Given the description of an element on the screen output the (x, y) to click on. 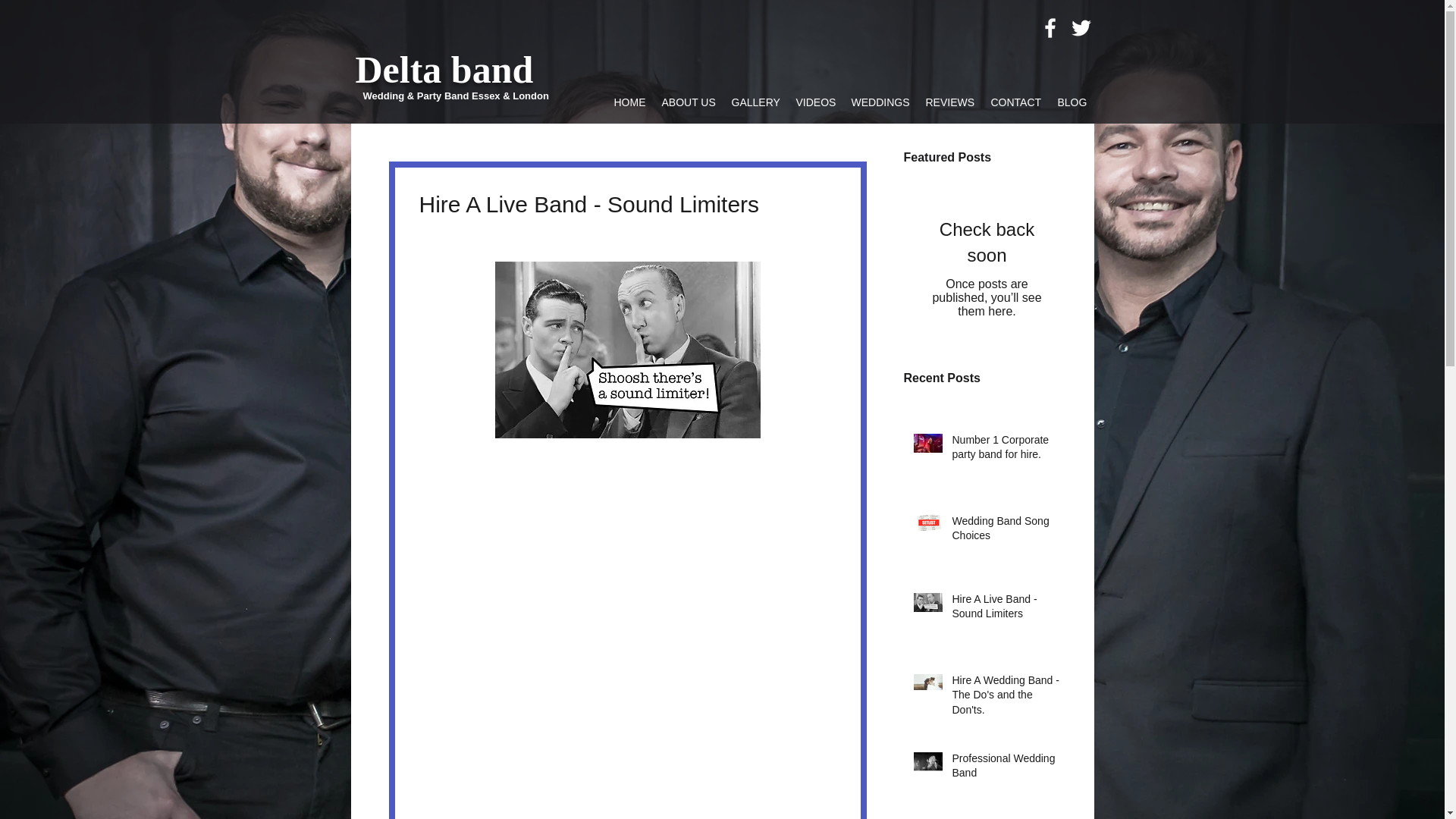
Delta band (443, 69)
Professional Wedding Band (1006, 769)
Number 1 Corporate party band for hire. (1006, 450)
REVIEWS (949, 102)
Hire A Wedding Band - The Do's and the Don'ts. (1006, 698)
WEDDINGS (880, 102)
Hire A Live Band - Sound Limiters (1006, 610)
GALLERY (755, 102)
ABOUT US (688, 102)
HOME (628, 102)
